Given the description of an element on the screen output the (x, y) to click on. 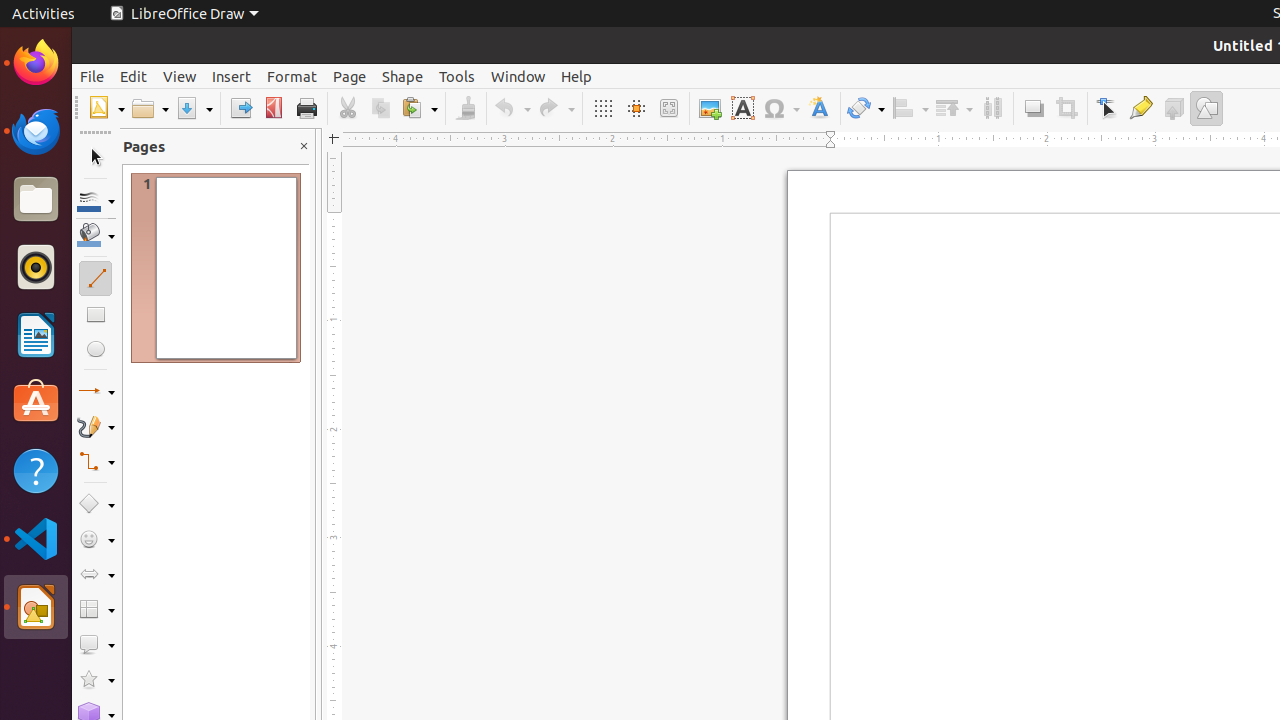
Select Element type: push-button (95, 157)
Shadow Element type: toggle-button (1033, 108)
Page Element type: menu (349, 76)
New Element type: push-button (106, 108)
